Given the description of an element on the screen output the (x, y) to click on. 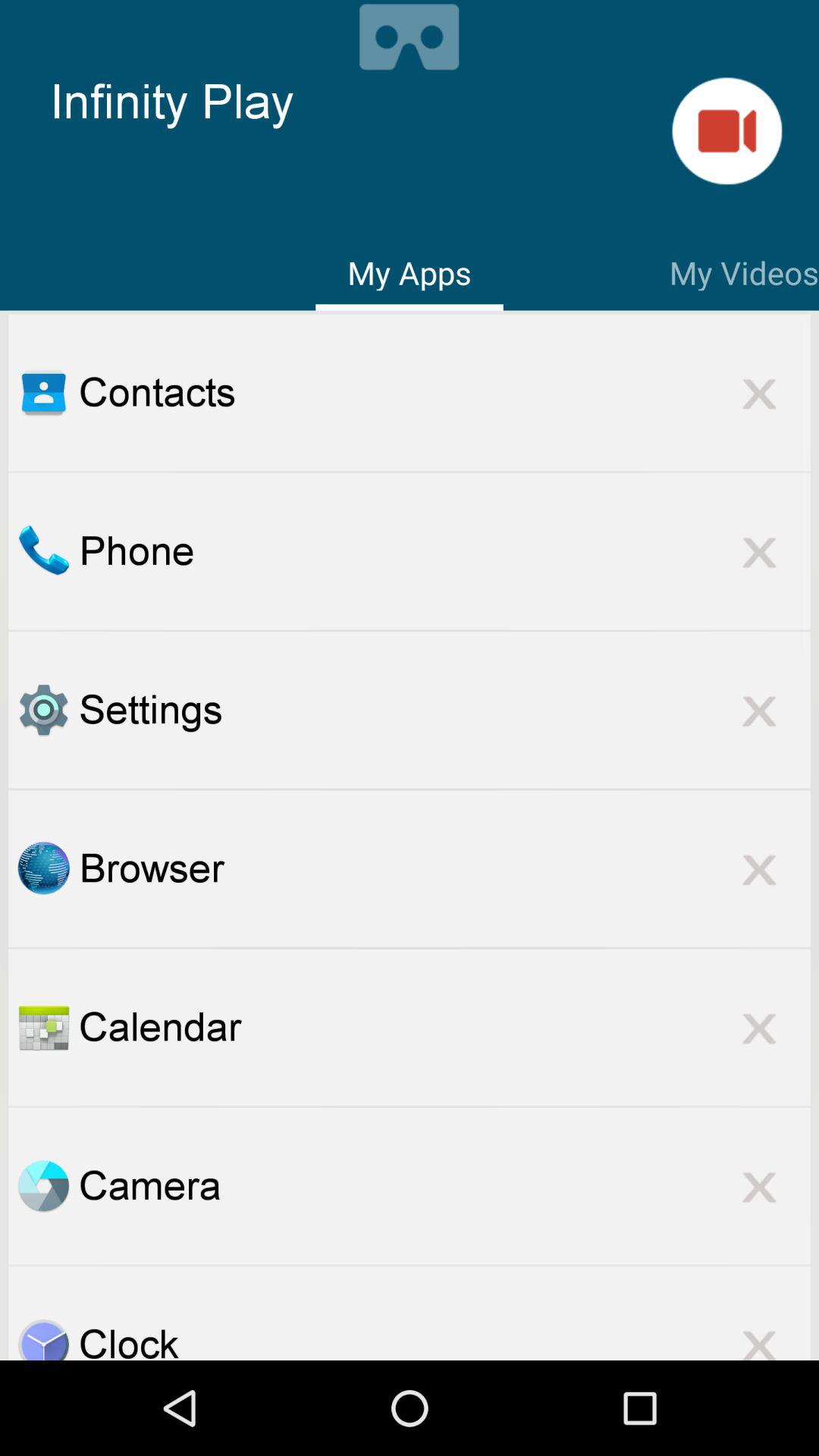
go do phone (43, 550)
